Given the description of an element on the screen output the (x, y) to click on. 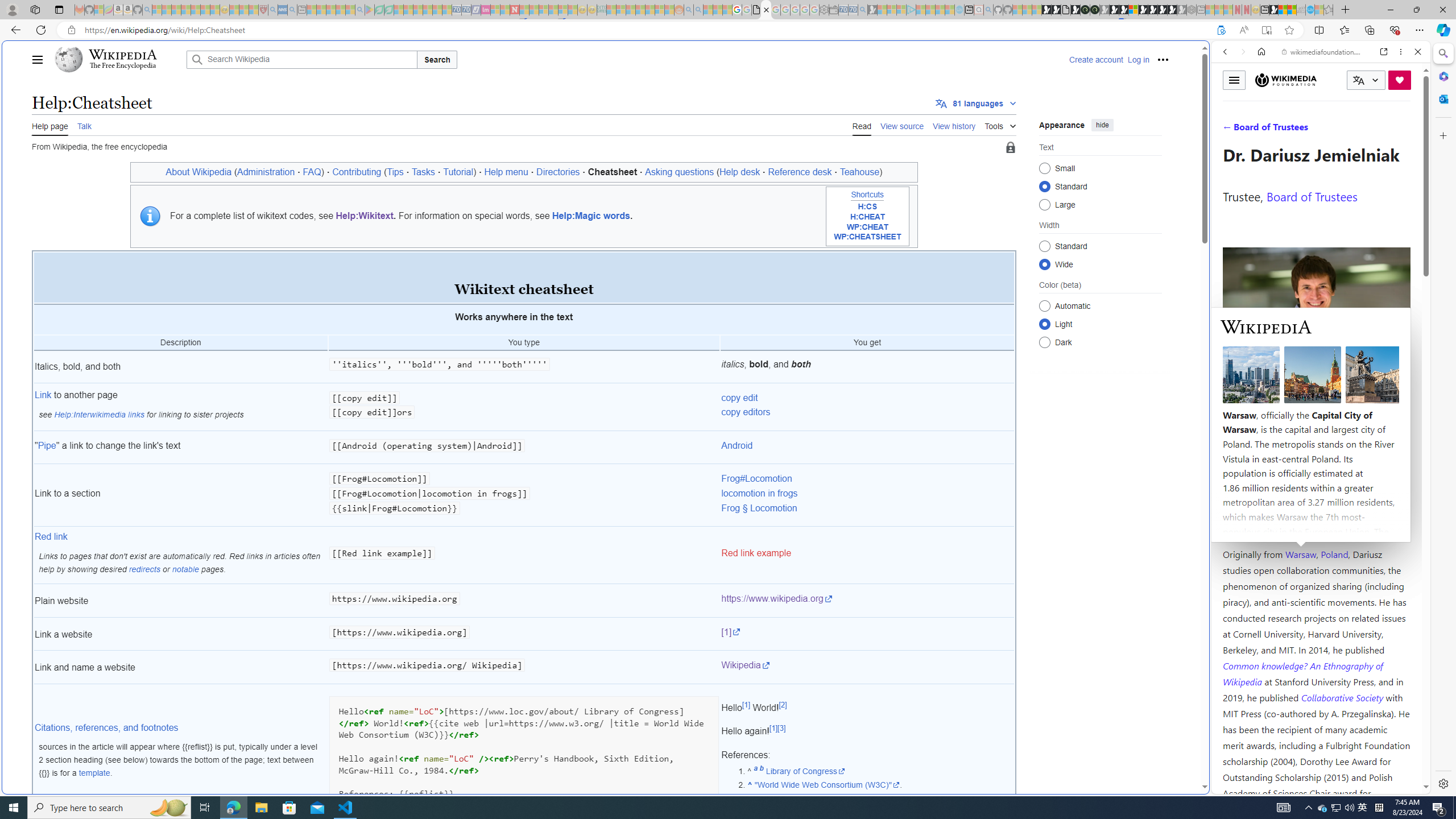
Settings - Sleeping (823, 9)
View source (902, 124)
Play Zoo Boom in your browser | Games from Microsoft Start (1055, 9)
[[Android (operating system)|Android]] (523, 447)
